Given the description of an element on the screen output the (x, y) to click on. 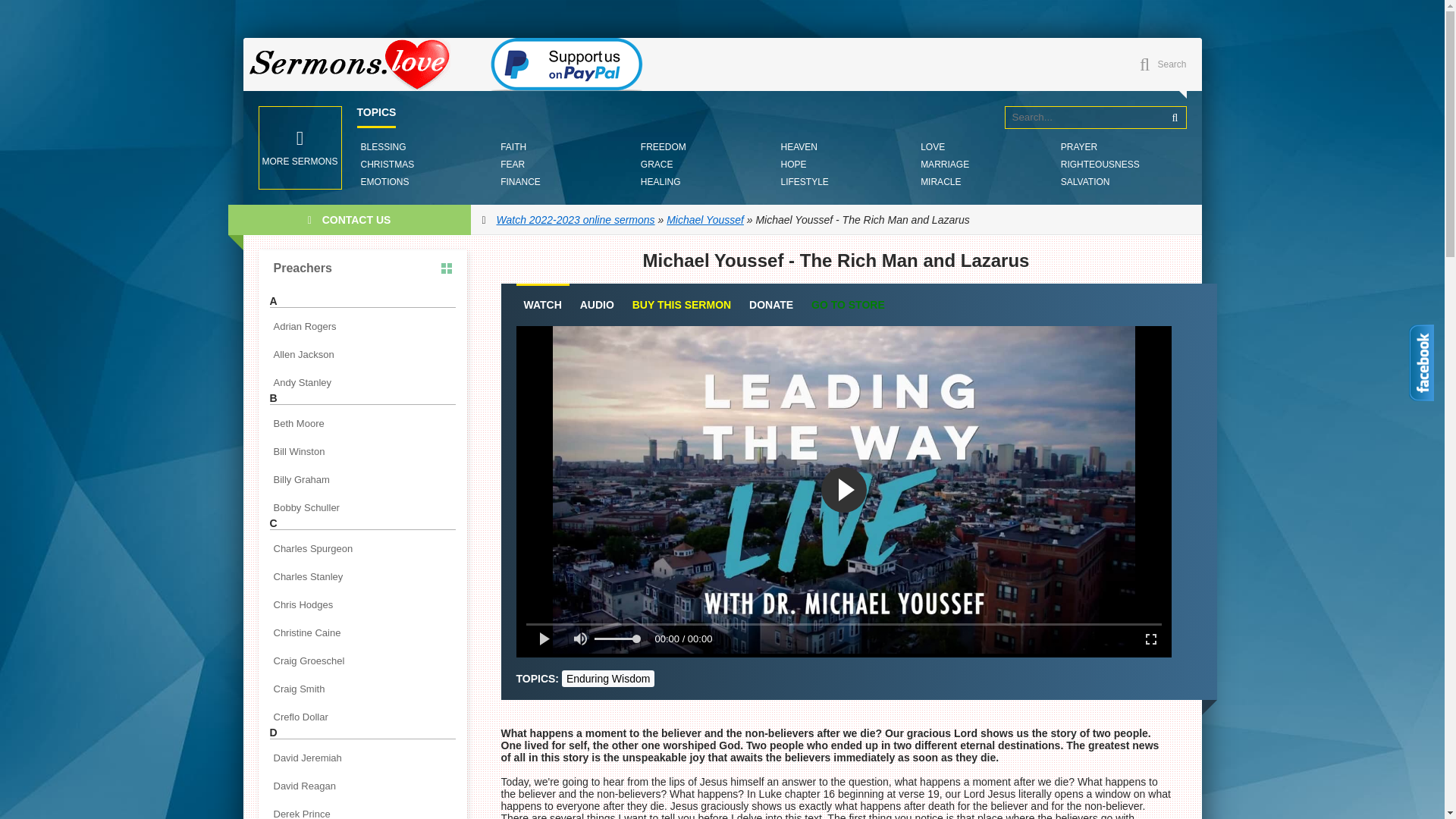
MIRACLE (940, 181)
Search (1174, 117)
DONATE (771, 304)
HEAVEN (798, 146)
FAITH (512, 146)
Adrian Rogers (362, 325)
FEAR (512, 164)
HEALING (660, 181)
CONTACT US (348, 219)
HOPE (792, 164)
Sermons.love (356, 63)
GRACE (657, 164)
BLESSING (382, 146)
Homepage (356, 63)
MARRIAGE (944, 164)
